Given the description of an element on the screen output the (x, y) to click on. 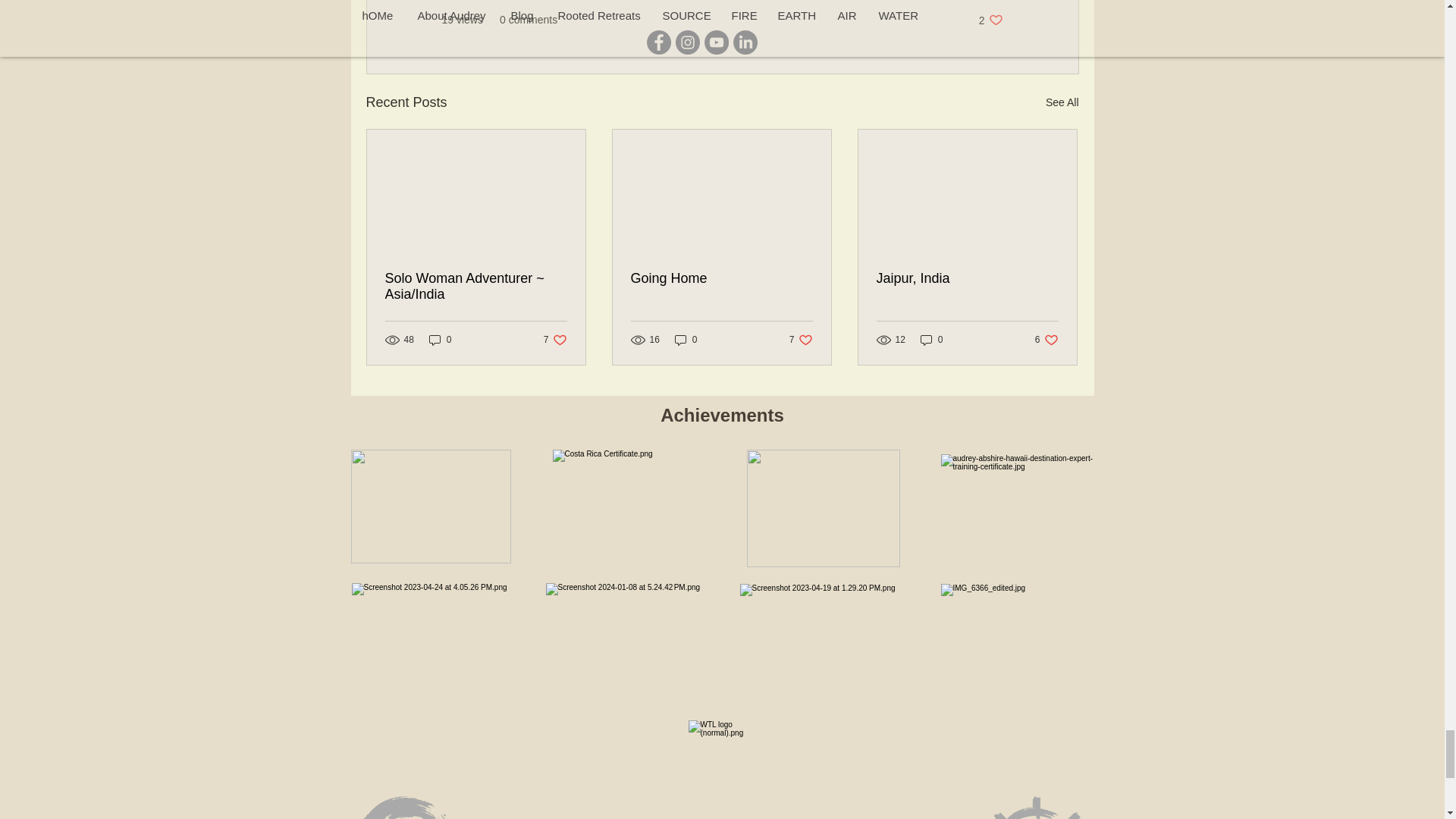
See All (1061, 102)
0 (555, 339)
0 (931, 339)
evolutiontravel.jpg (800, 339)
Going Home (1046, 339)
Jaipur, India (685, 339)
Universal Orlando Resort Certification.p (430, 506)
0 (721, 278)
